Given the description of an element on the screen output the (x, y) to click on. 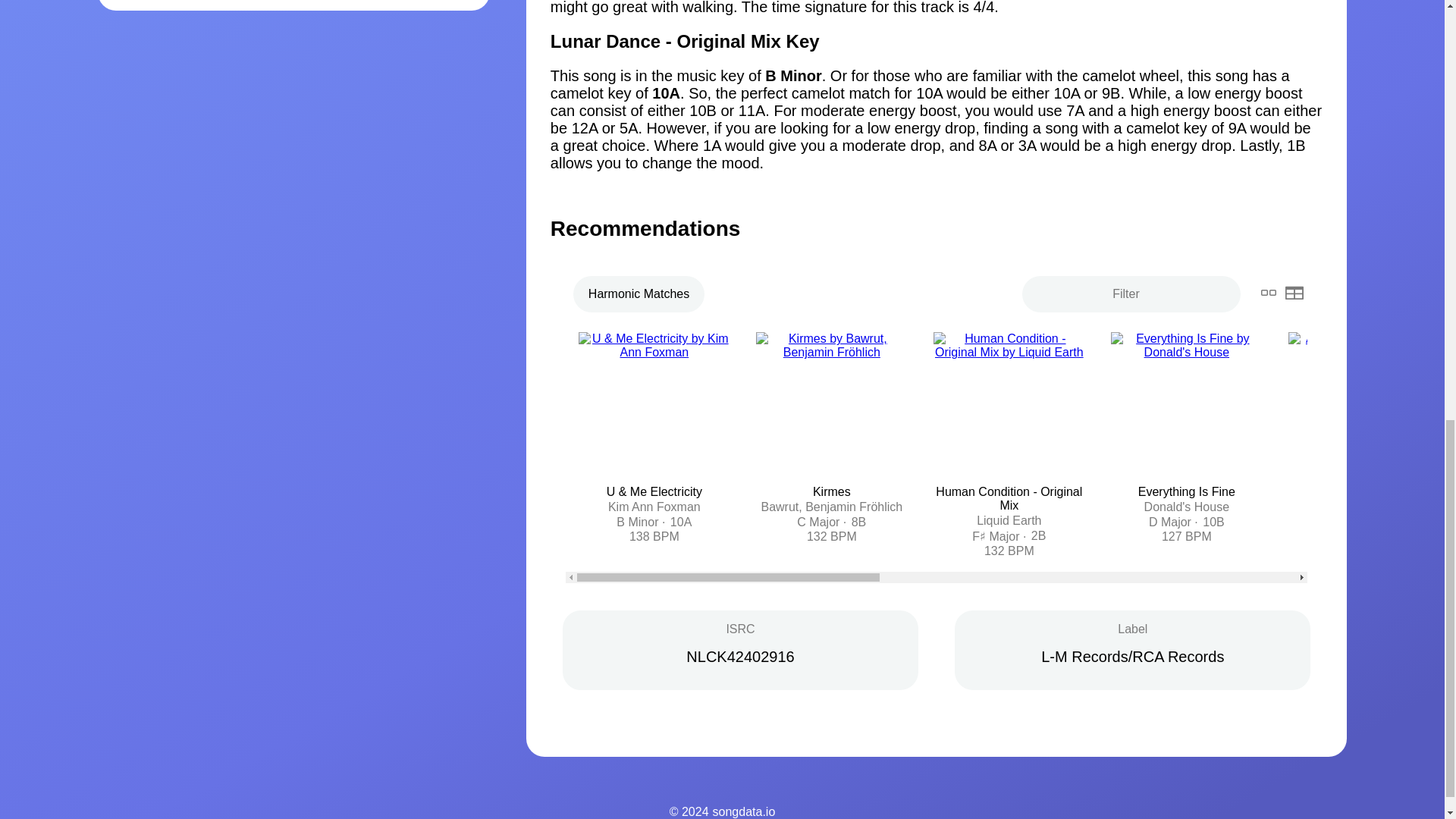
Kirmes (831, 491)
Human Condition - Original Mix (1008, 498)
Everything Is Fine (1186, 491)
Assinie - Escape Mix (1364, 491)
